Given the description of an element on the screen output the (x, y) to click on. 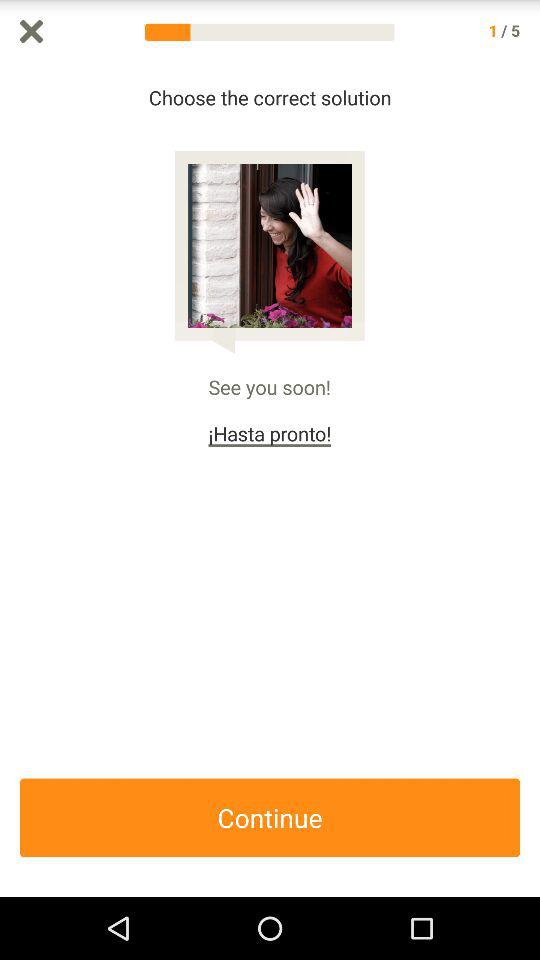
choose the button to the right of the continue (530, 480)
